Given the description of an element on the screen output the (x, y) to click on. 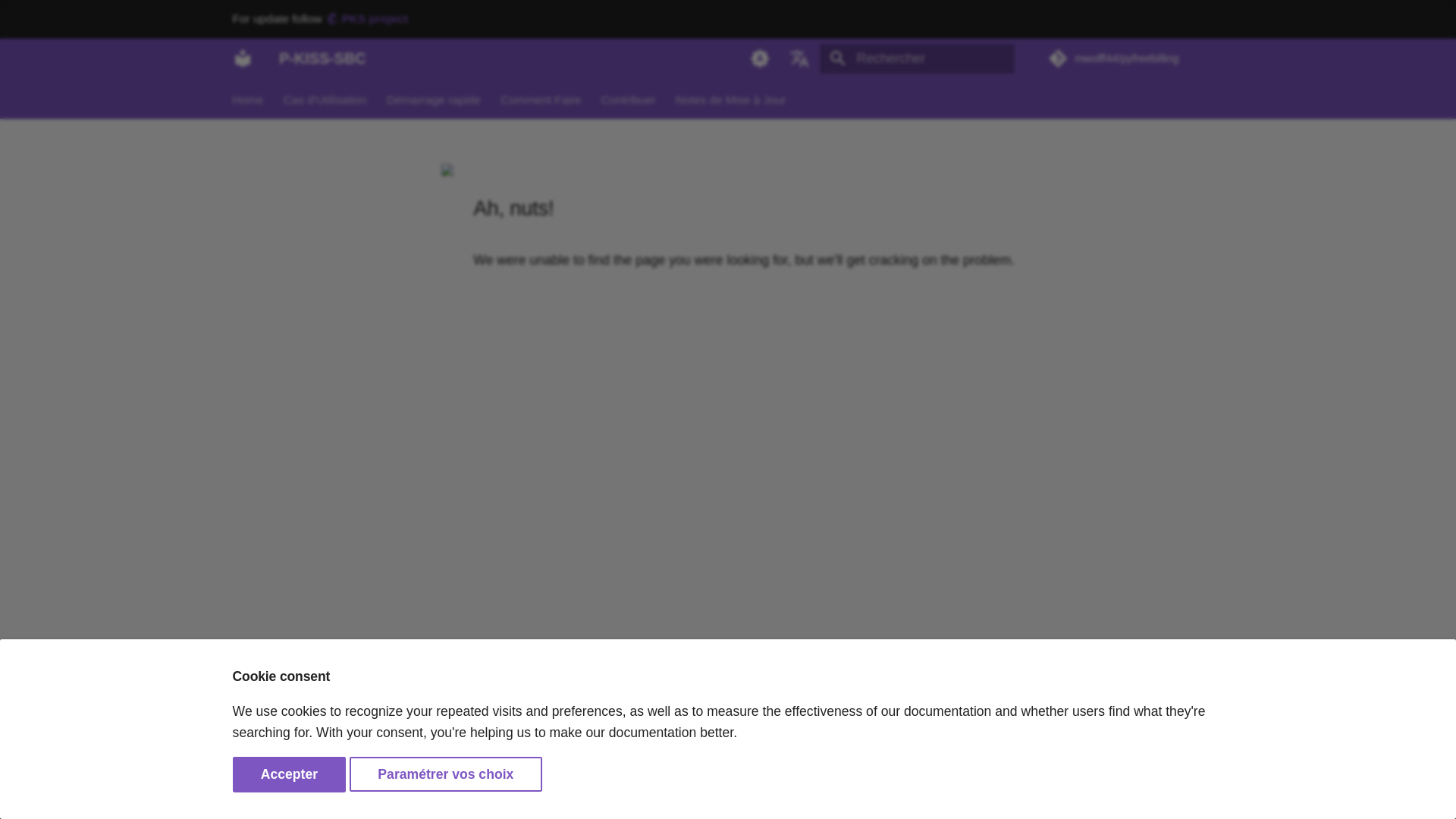
Cas d'Utilisation (324, 99)
github.com (1153, 791)
Contribuer (628, 99)
P-KISS-SBC (242, 58)
hub.docker.com (1213, 791)
Home (247, 99)
Switch to light mode (759, 58)
www.linkedin.com (1183, 791)
PKS project (365, 18)
Comment Faire (540, 99)
